Given the description of an element on the screen output the (x, y) to click on. 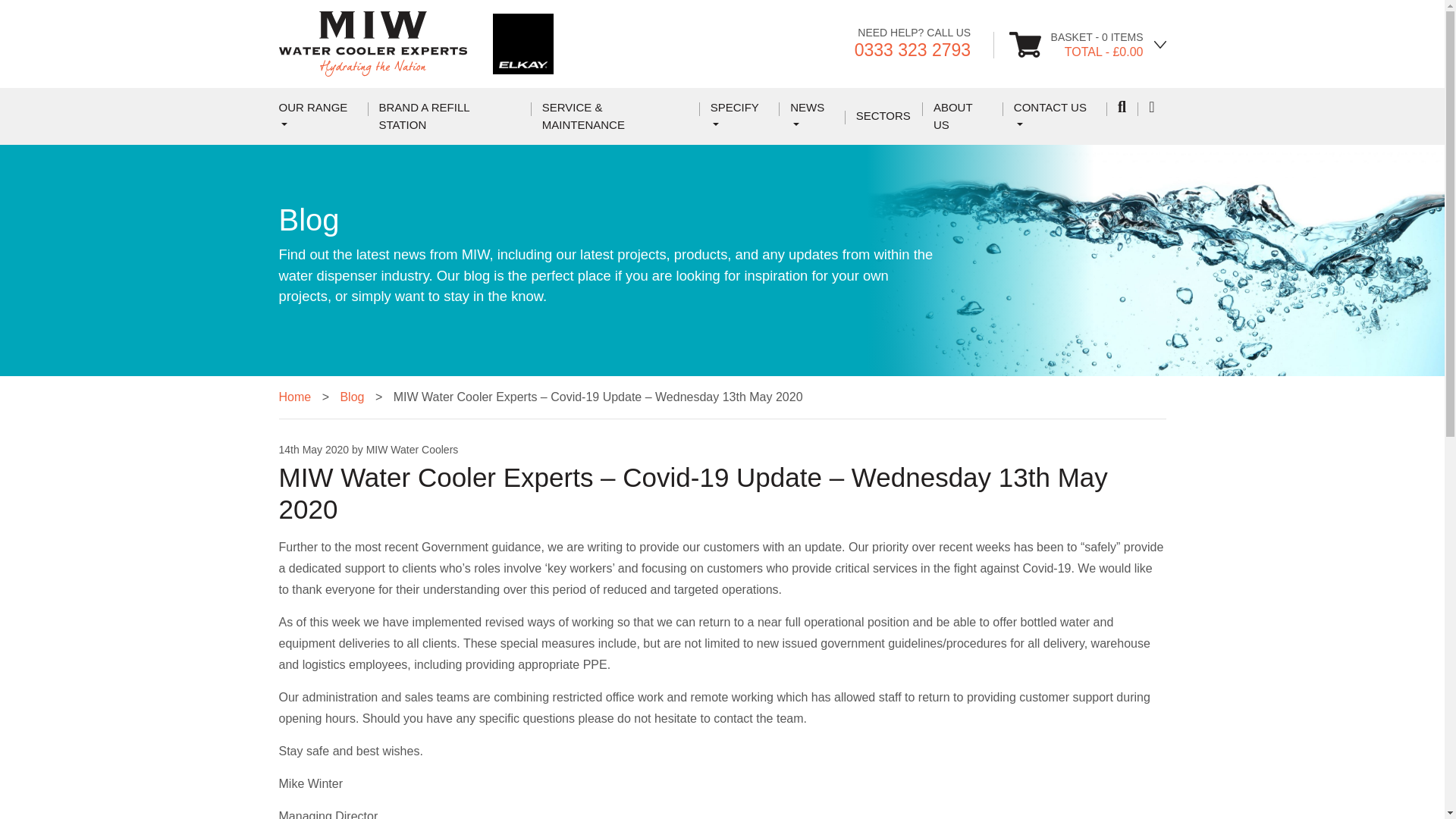
BRAND A REFILL STATION (448, 116)
0333 323 2793 (912, 48)
OUR RANGE (317, 116)
SPECIFY (739, 116)
